Given the description of an element on the screen output the (x, y) to click on. 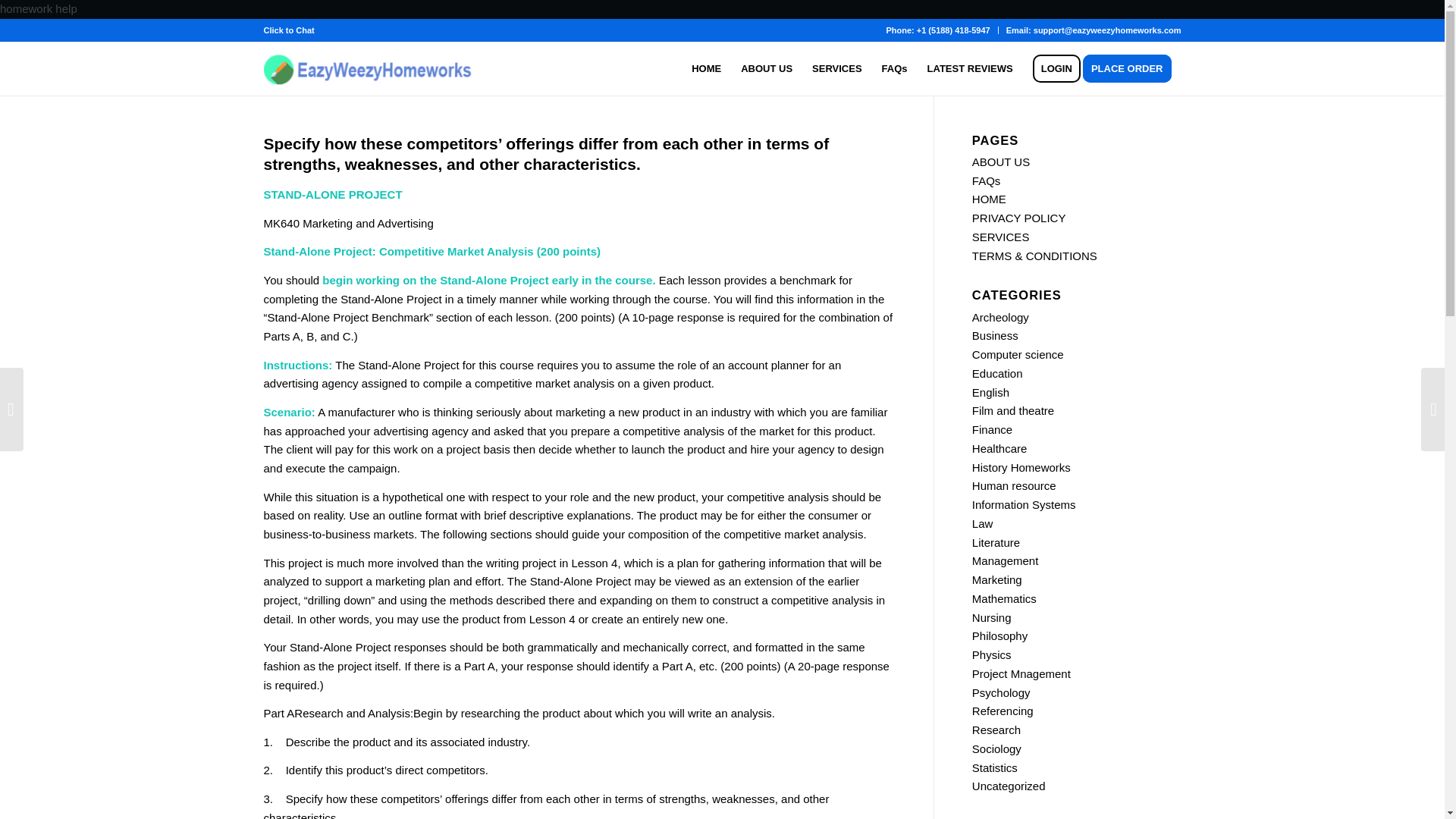
PRIVACY POLICY (1018, 217)
SERVICES (1000, 236)
ABOUT US (1000, 161)
History Homeworks (1021, 467)
Healthcare (999, 448)
Finance (991, 429)
Click to Chat (288, 30)
Education (997, 373)
Archeology (1000, 317)
Business (994, 335)
Computer science (1018, 354)
PAGES (995, 140)
FAQs (894, 68)
Literature (996, 542)
Film and theatre (1013, 410)
